Given the description of an element on the screen output the (x, y) to click on. 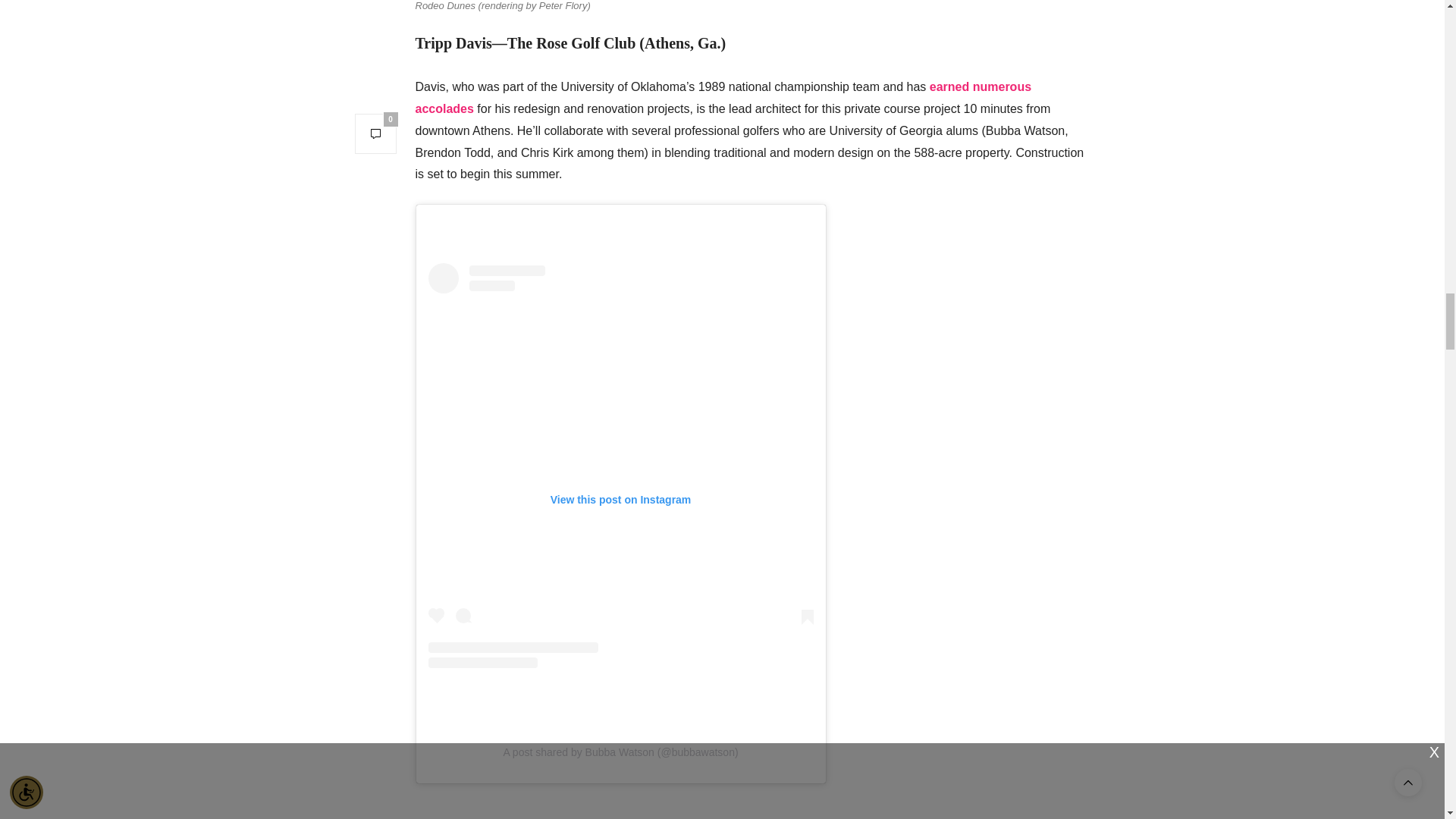
3rd party ad content (751, 810)
